Given the description of an element on the screen output the (x, y) to click on. 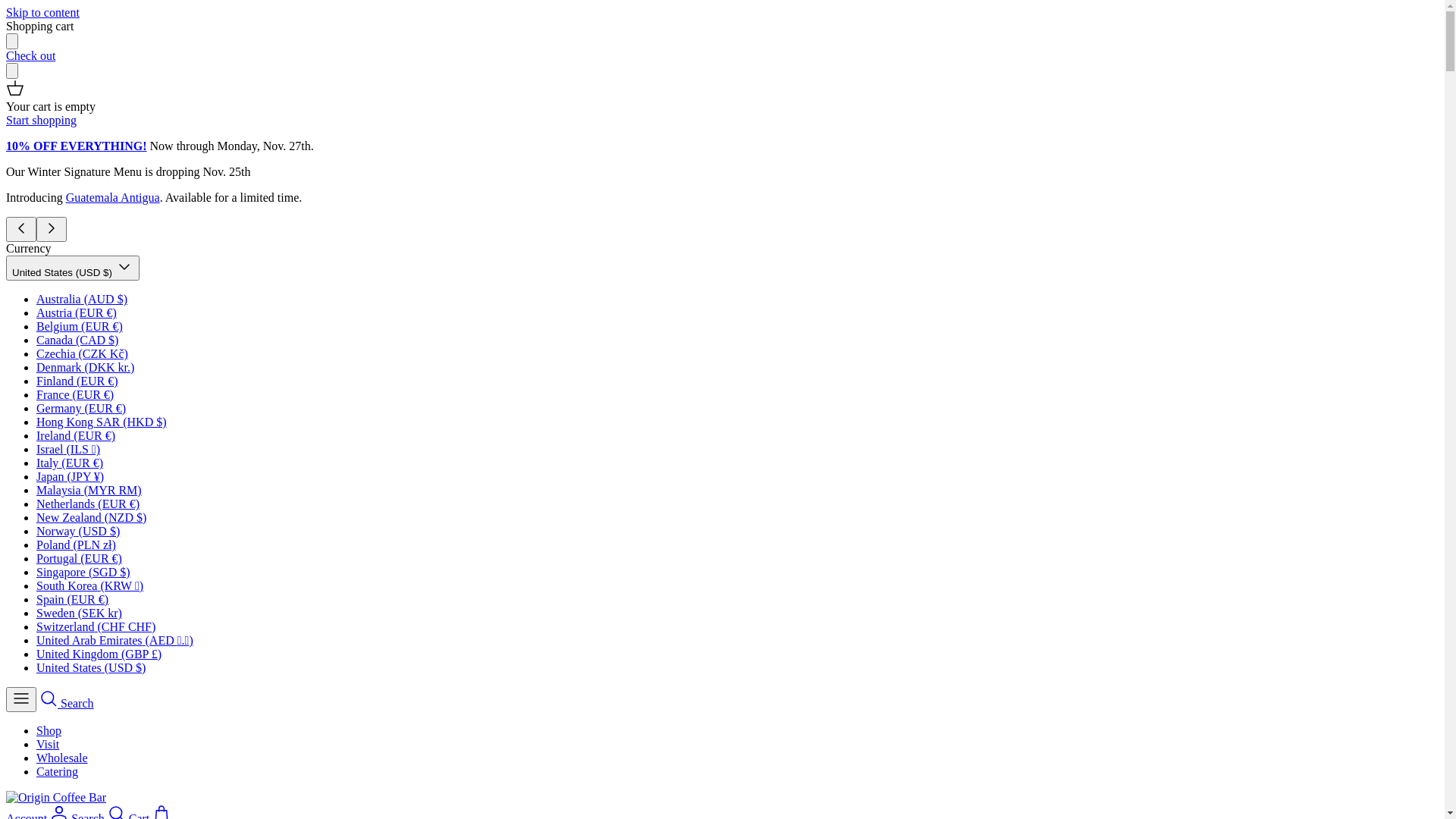
Origin Coffee Bar Element type: hover (56, 796)
Wholesale Element type: text (61, 757)
Start shopping Element type: text (41, 119)
Hong Kong SAR (HKD $) Element type: text (101, 421)
Norway (USD $) Element type: text (77, 530)
United States (USD $) Element type: text (90, 667)
Sweden (SEK kr) Element type: text (79, 612)
New Zealand (NZD $) Element type: text (91, 517)
Shop Element type: text (48, 730)
Malaysia (MYR RM) Element type: text (88, 489)
Visit Element type: text (47, 743)
United States (USD $) Down Element type: text (72, 267)
10% OFF EVERYTHING! Element type: text (76, 145)
Skip to content Element type: text (42, 12)
Singapore (SGD $) Element type: text (83, 571)
Check out Element type: text (30, 55)
Search Element type: text (66, 702)
Denmark (DKK kr.) Element type: text (85, 366)
Left Element type: text (21, 228)
Australia (AUD $) Element type: text (81, 298)
Catering Element type: text (57, 771)
Guatemala Antigua Element type: text (112, 197)
Canada (CAD $) Element type: text (77, 339)
Right Element type: text (51, 228)
Switzerland (CHF CHF) Element type: text (95, 626)
